Given the description of an element on the screen output the (x, y) to click on. 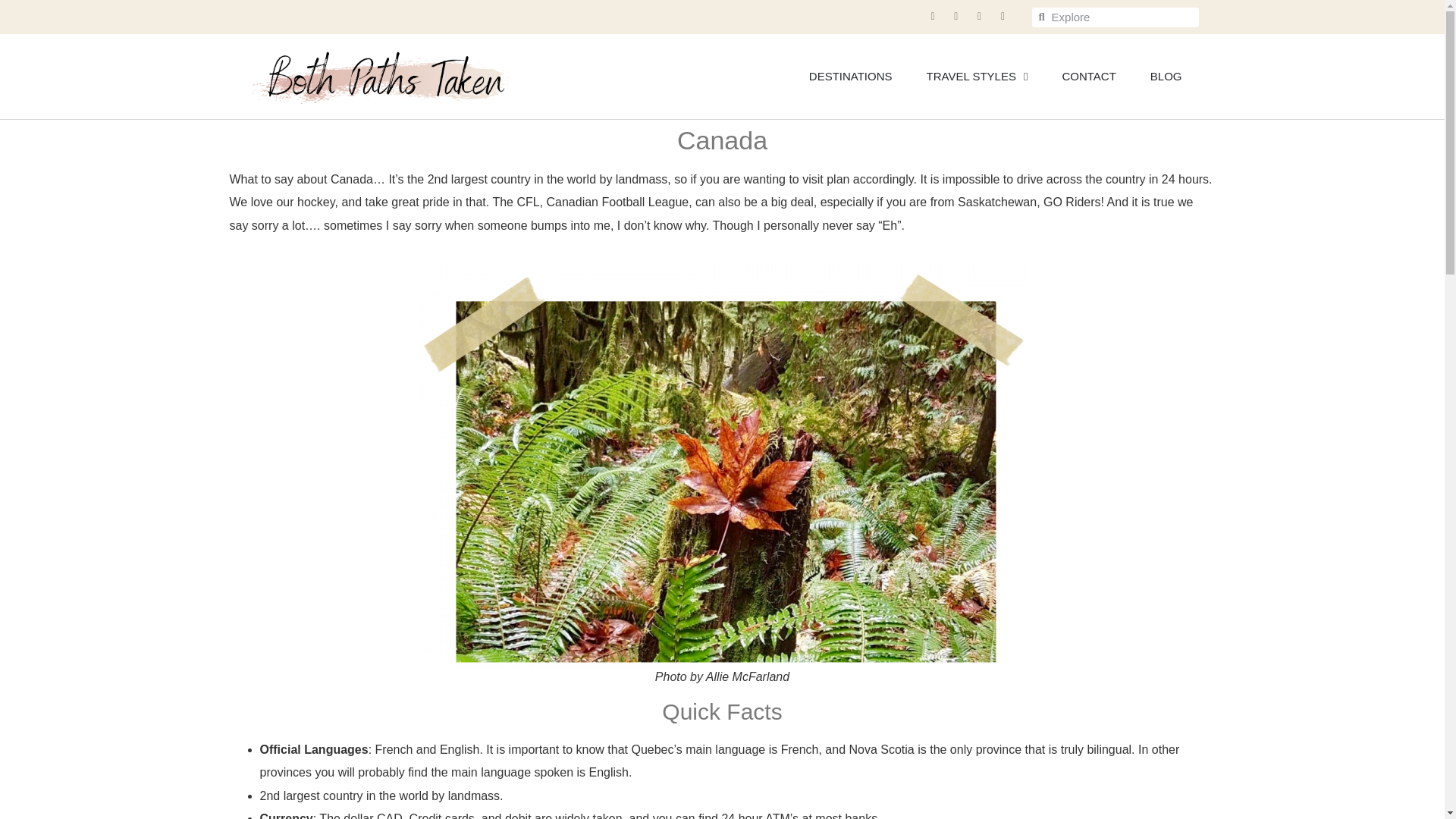
DESTINATIONS (850, 76)
TRAVEL STYLES (977, 76)
CONTACT (1087, 76)
